Given the description of an element on the screen output the (x, y) to click on. 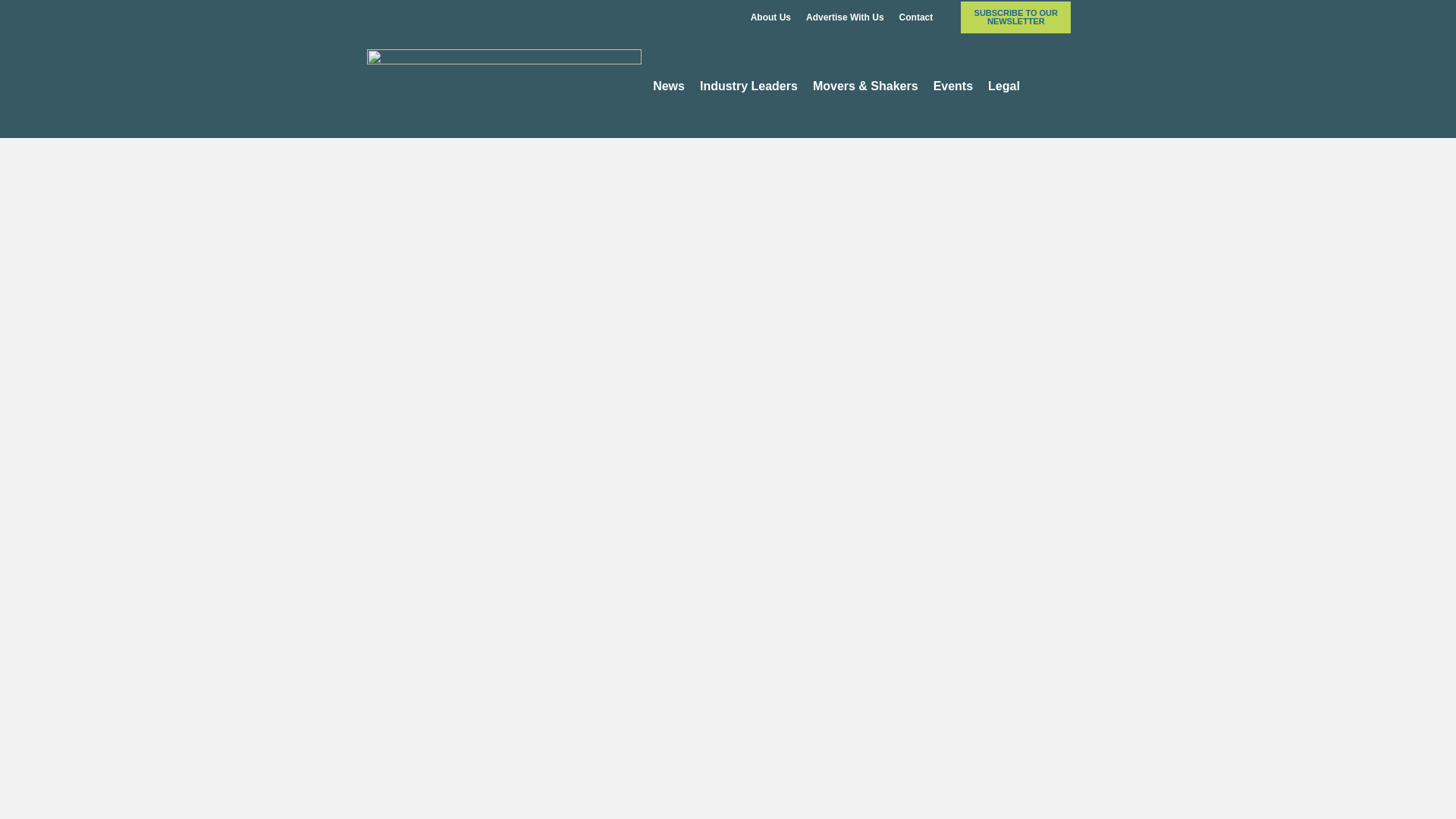
SUBSCRIBE TO OUR NEWSLETTER (1015, 17)
Events (952, 86)
Legal (1003, 86)
About Us (769, 17)
News (669, 86)
Contact (915, 17)
Advertise With Us (844, 17)
Industry Leaders (749, 86)
